Given the description of an element on the screen output the (x, y) to click on. 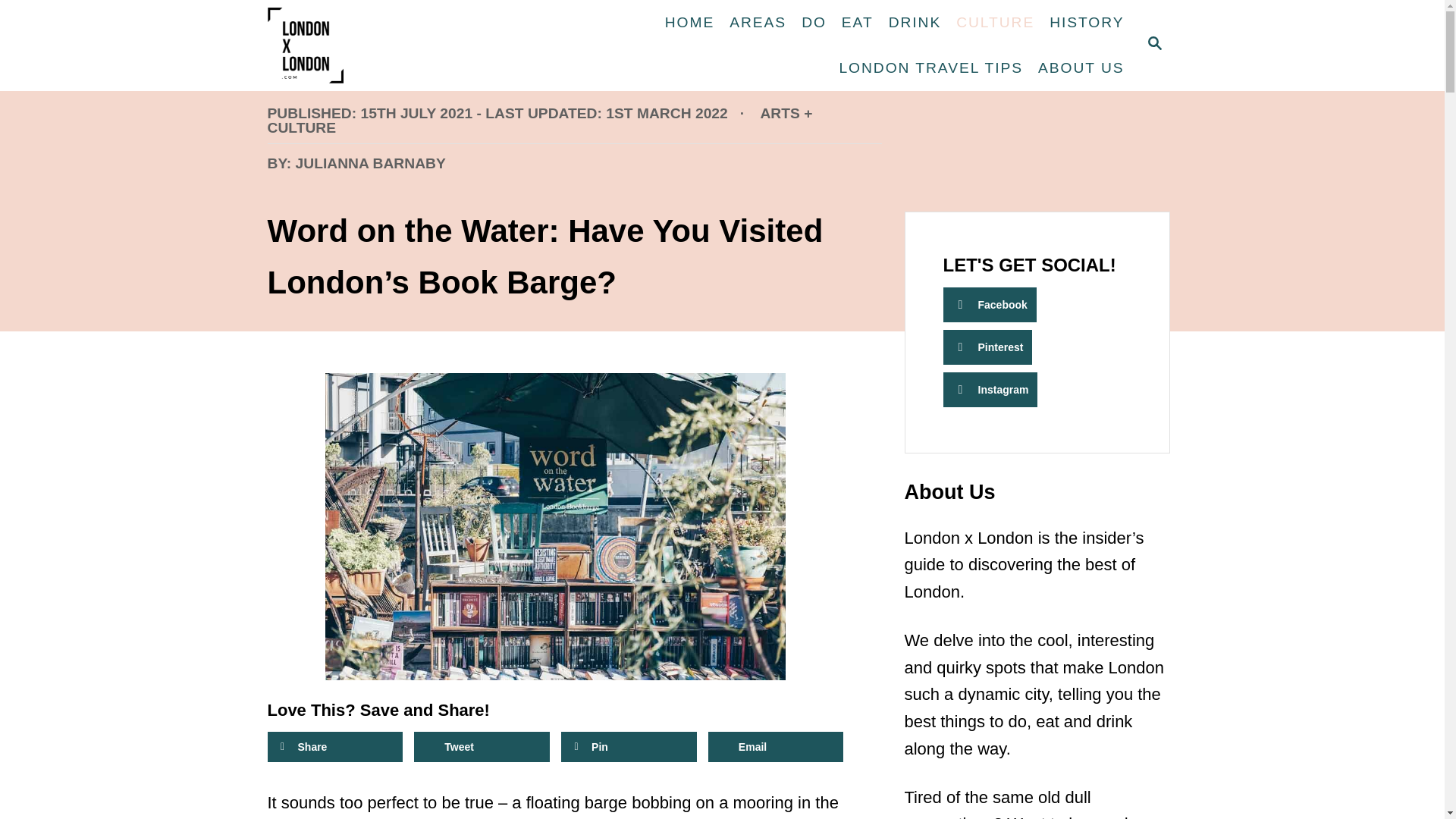
JULIANNA BARNABY (370, 162)
Pin (628, 747)
DRINK (914, 22)
London x London (365, 45)
DO (813, 22)
HOME (690, 22)
CULTURE (995, 22)
Share (334, 747)
Facebook (1153, 45)
